Given the description of an element on the screen output the (x, y) to click on. 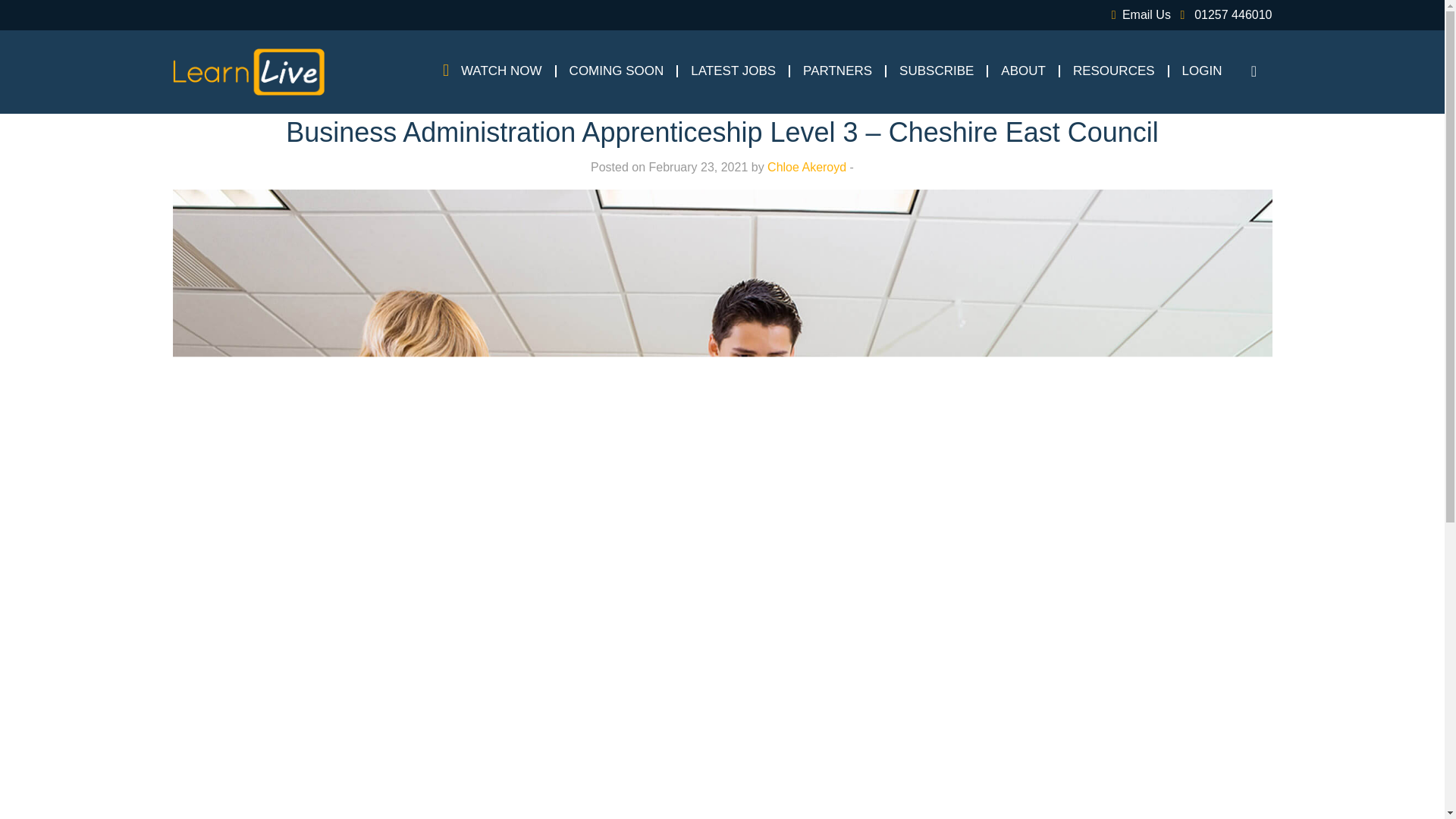
RESOURCES (1114, 70)
WATCH NOW (501, 70)
LOGIN (1202, 70)
COMING SOON (617, 70)
SUBSCRIBE (936, 70)
01257 446010 (1222, 14)
Search (1257, 70)
Email Us (1137, 14)
Email Us (1137, 14)
Chloe Akeroyd (806, 166)
